Given the description of an element on the screen output the (x, y) to click on. 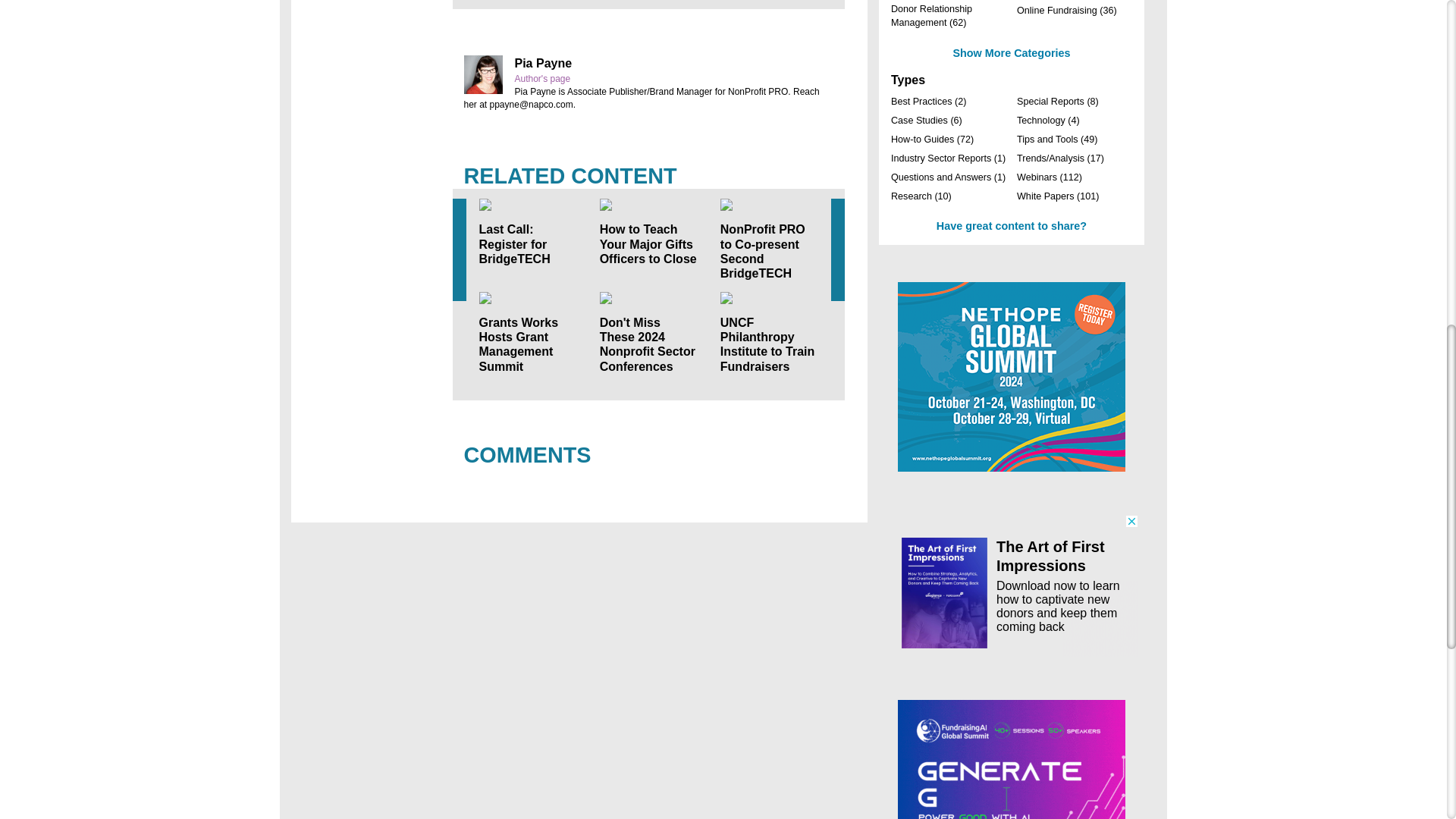
3rd party ad content (1011, 585)
3rd party ad content (1011, 376)
3rd party ad content (1011, 759)
